Given the description of an element on the screen output the (x, y) to click on. 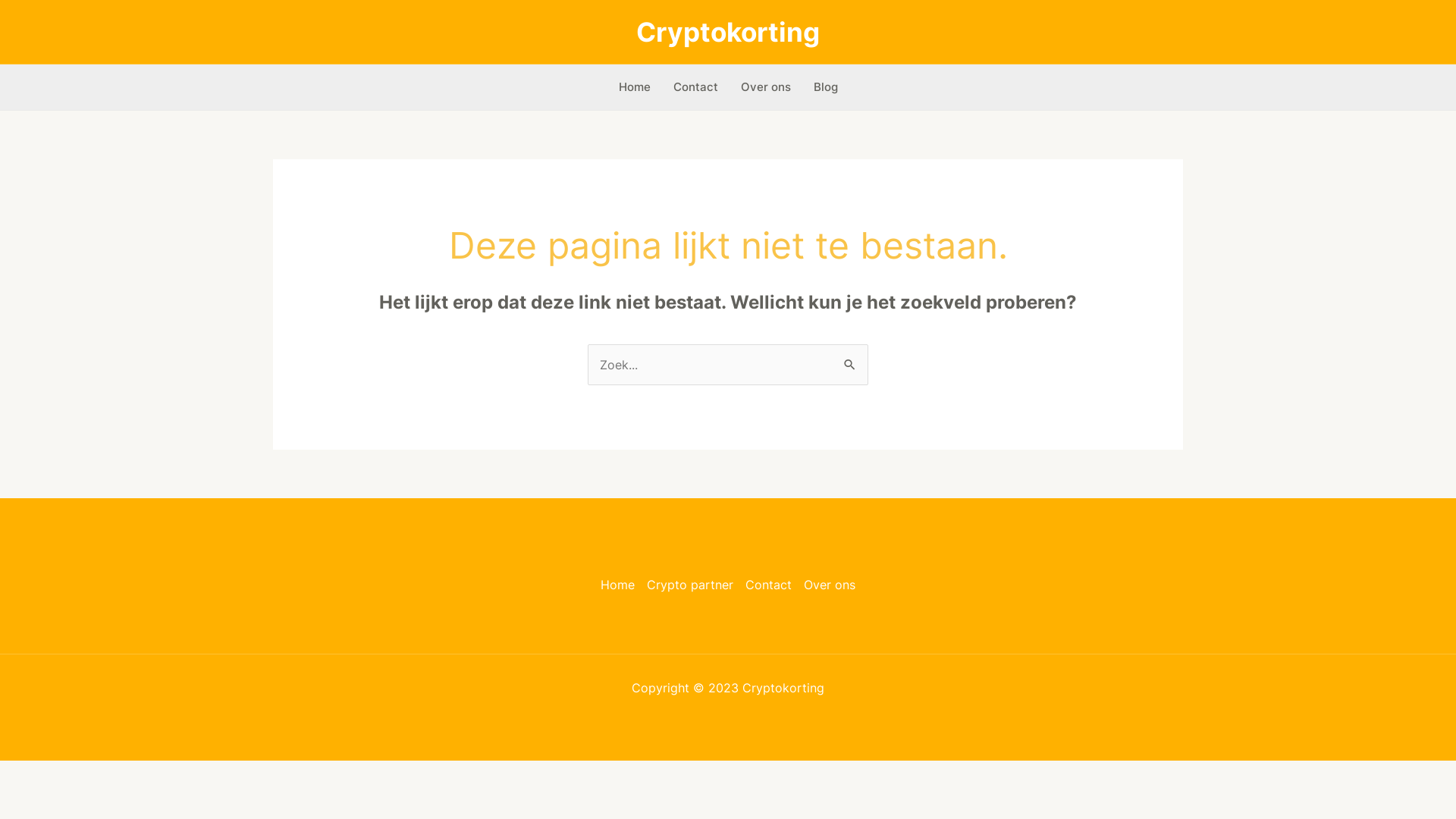
Home Element type: text (633, 86)
Crypto partner Element type: text (689, 585)
Home Element type: text (620, 585)
Over ons Element type: text (765, 86)
Zoeken Element type: text (851, 359)
Contact Element type: text (768, 585)
Blog Element type: text (825, 86)
Cryptokorting Element type: text (727, 31)
Contact Element type: text (694, 86)
Over ons Element type: text (826, 585)
